Given the description of an element on the screen output the (x, y) to click on. 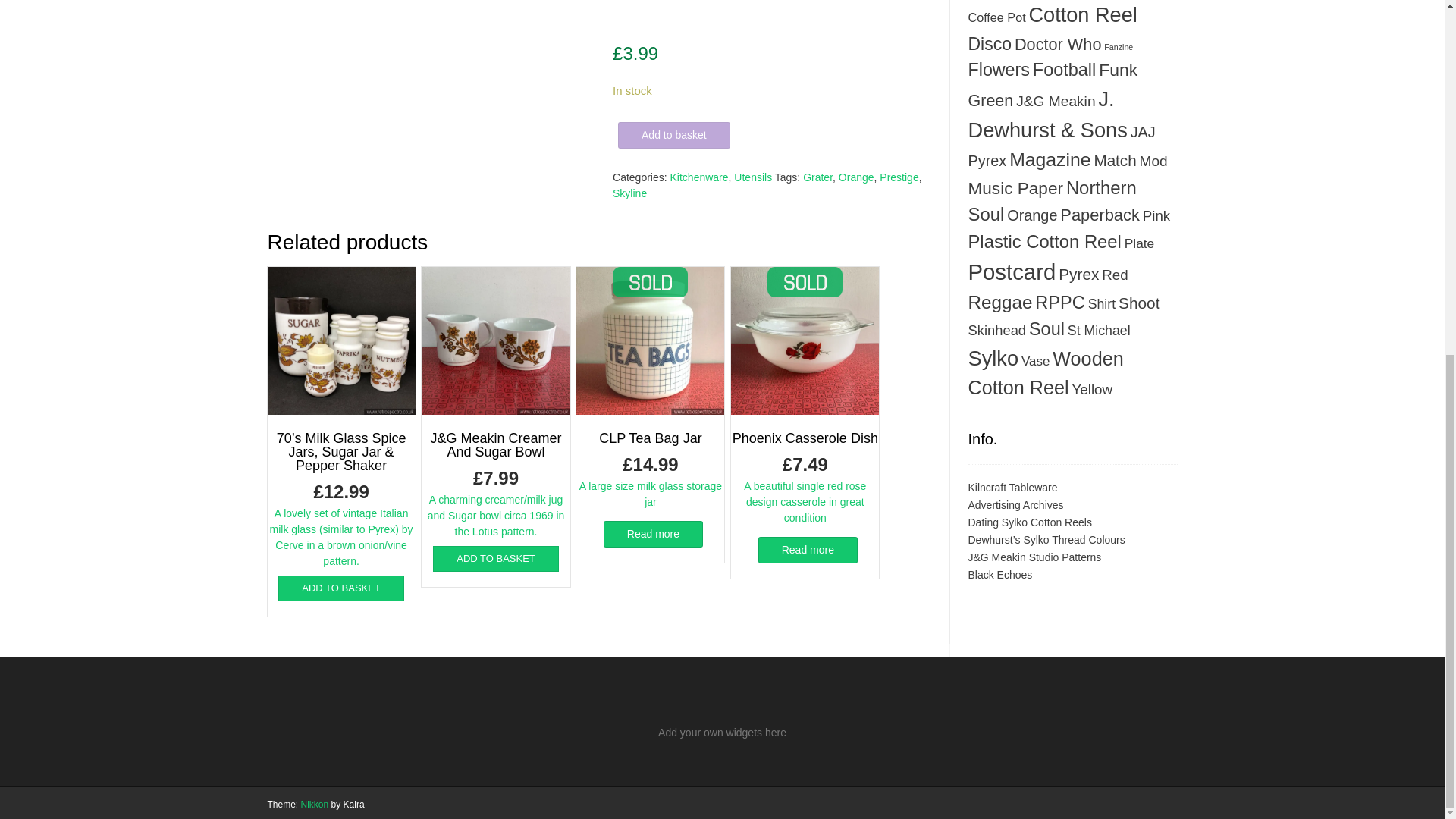
ADD TO BASKET (341, 588)
Utensils (752, 177)
Read more (807, 550)
Grater (817, 177)
ADD TO BASKET (495, 558)
Kitchenware (699, 177)
Read more (653, 533)
Skyline (629, 193)
Add to basket (673, 135)
Prestige (898, 177)
